Given the description of an element on the screen output the (x, y) to click on. 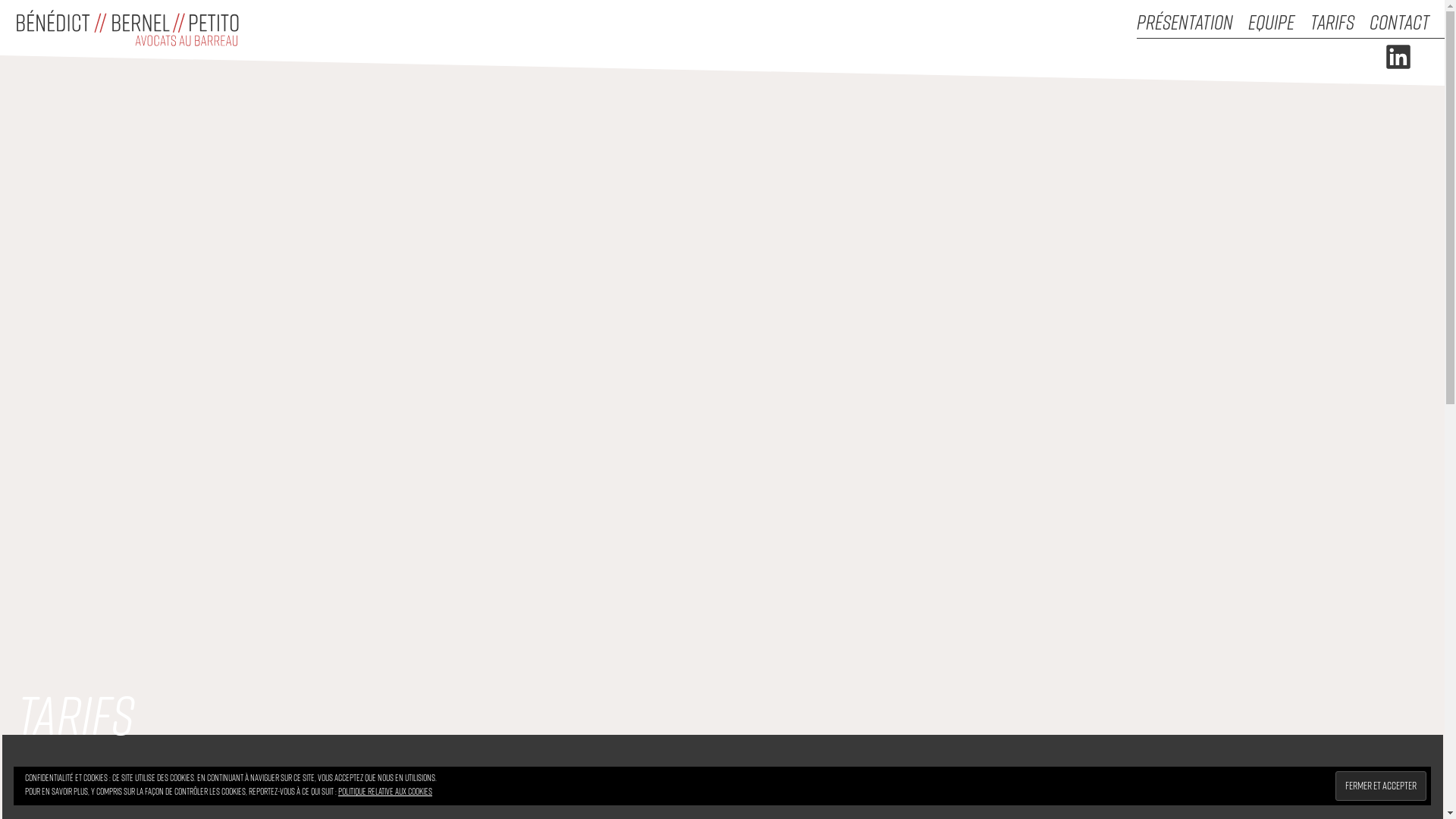
Tarifs Element type: text (1339, 21)
Fermer et accepter Element type: text (1380, 785)
LinkedIn Element type: text (1398, 70)
Contact Element type: text (1406, 21)
Equipe Element type: text (1278, 21)
Politique relative aux cookies Element type: text (385, 790)
